Given the description of an element on the screen output the (x, y) to click on. 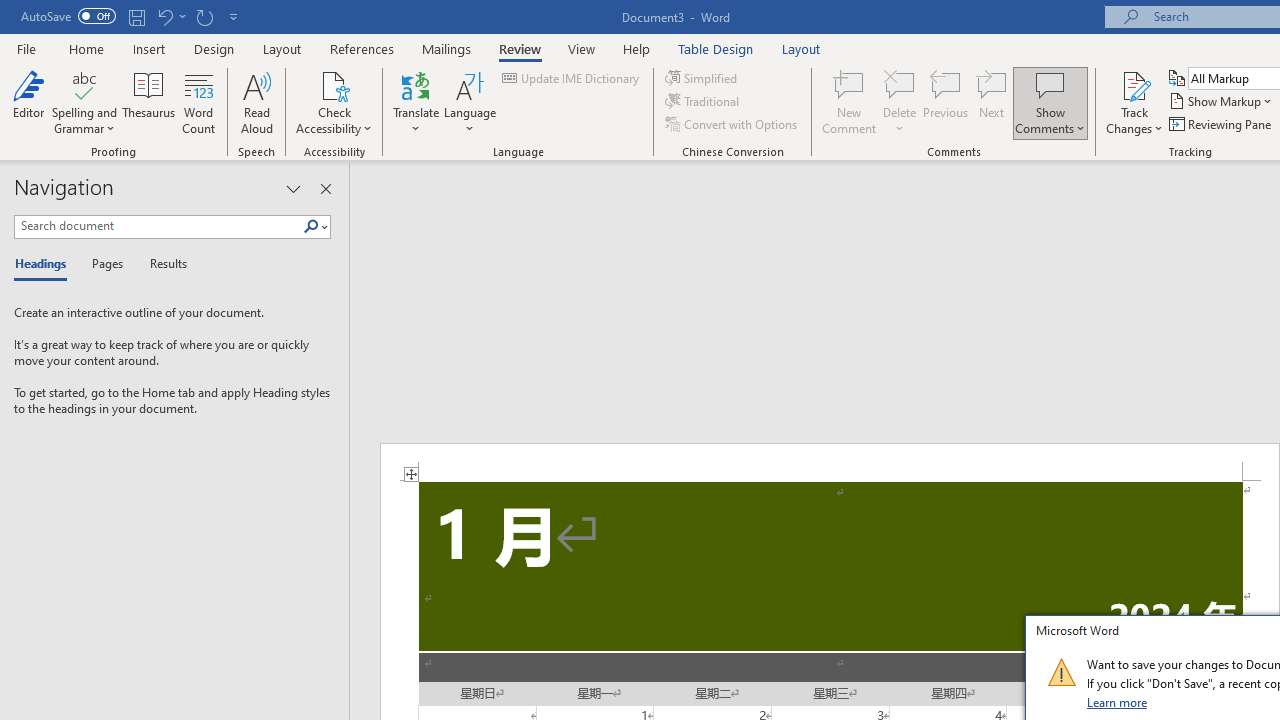
Traditional (703, 101)
Delete (900, 84)
Simplified (702, 78)
Learn more (1118, 702)
Show Comments (1050, 84)
Language (470, 102)
Show Comments (1050, 102)
Next (991, 102)
Header -Section 1- (830, 461)
